Given the description of an element on the screen output the (x, y) to click on. 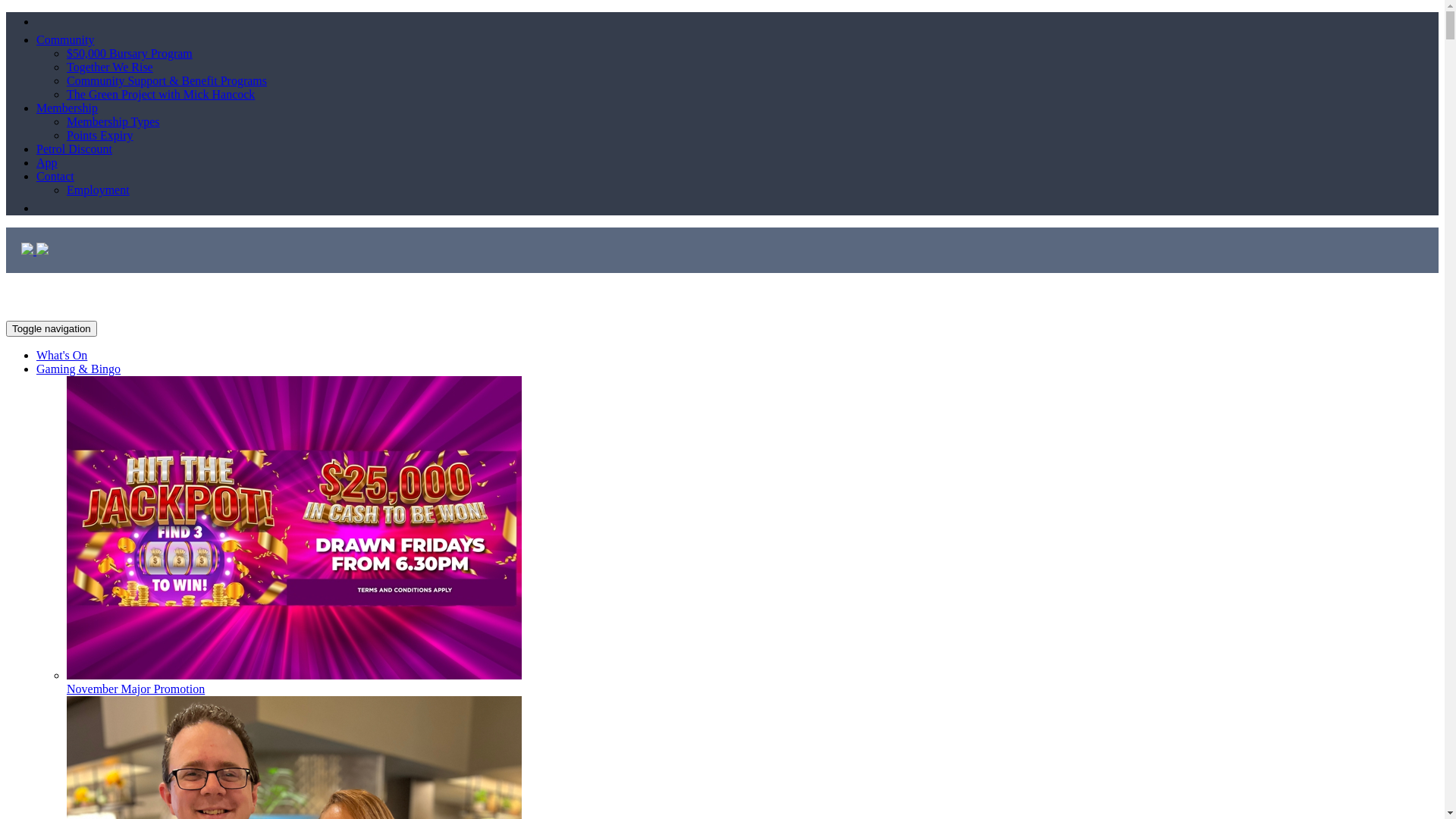
Together We Rise Element type: text (109, 66)
Membership Element type: text (66, 107)
Community Support & Benefit Programs Element type: text (166, 80)
Community Element type: text (65, 39)
$50,000 Bursary Program Element type: text (129, 53)
November Major Promotion Element type: text (752, 682)
Gaming & Bingo Element type: text (78, 368)
The Green Project with Mick Hancock Element type: text (160, 93)
App Element type: text (46, 162)
Membership Types Element type: text (113, 121)
Petrol Discount Element type: text (74, 148)
Contact Element type: text (55, 175)
Toggle navigation Element type: text (51, 328)
Points Expiry Element type: text (99, 134)
What's On Element type: text (61, 354)
Employment Element type: text (97, 189)
